Given the description of an element on the screen output the (x, y) to click on. 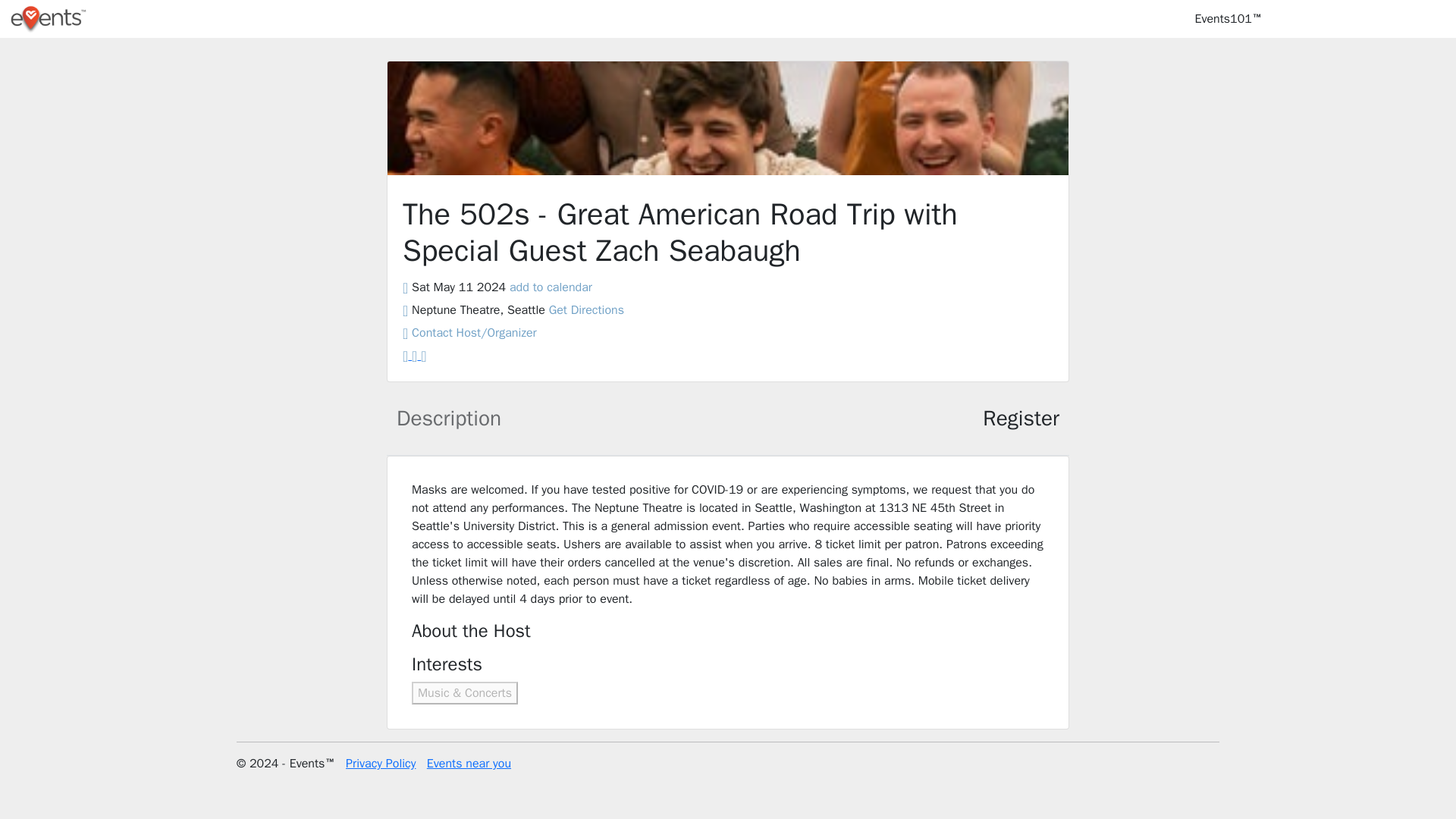
Create an Event (1331, 18)
Get Directions (586, 309)
Sign in (1418, 18)
Register (1020, 421)
Description (449, 421)
Create an Event (1331, 18)
Events101 (1228, 18)
add to calendar (550, 287)
sign in (1418, 18)
